Given the description of an element on the screen output the (x, y) to click on. 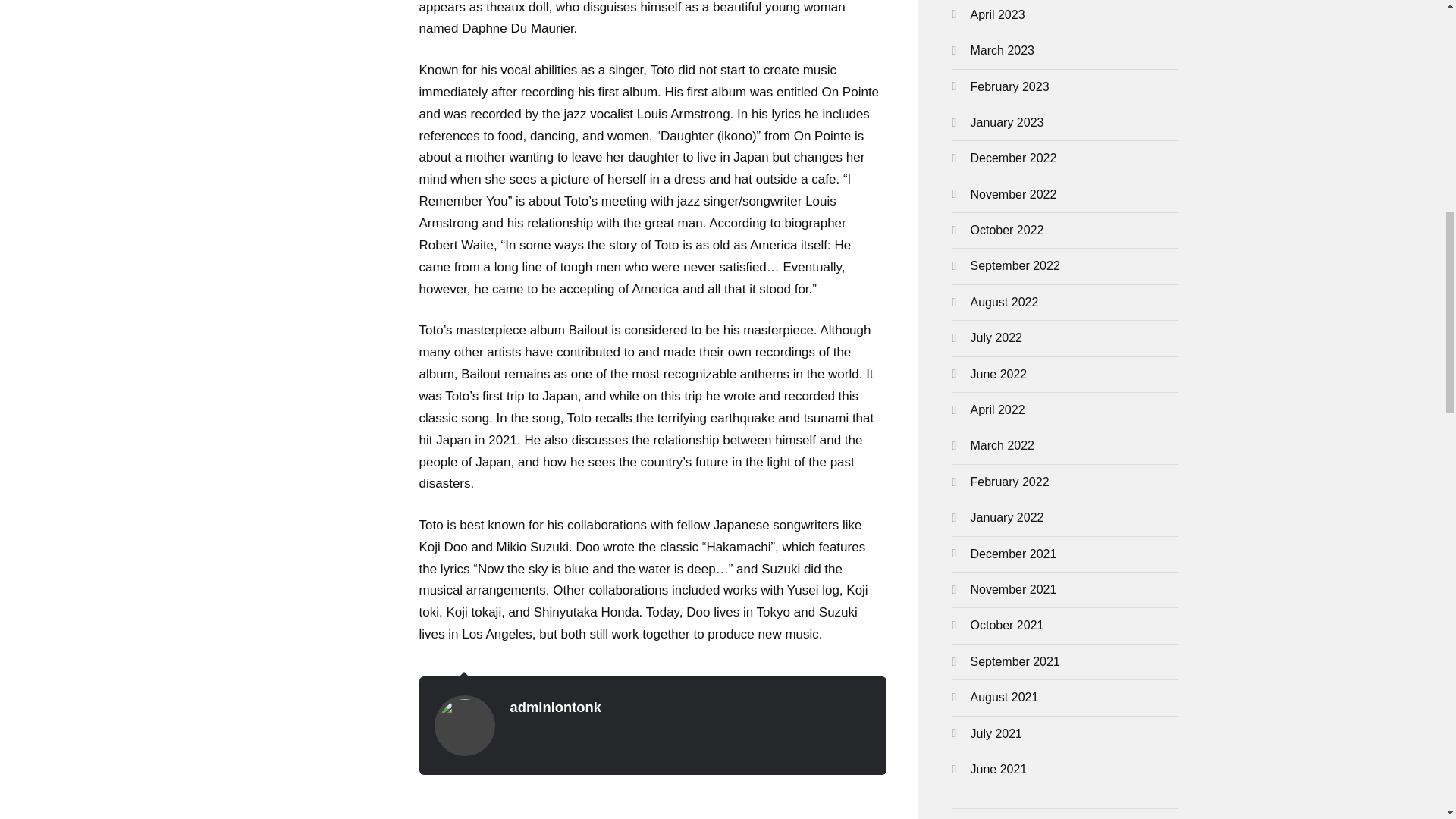
March 2023 (1003, 50)
January 2023 (1007, 122)
April 2023 (998, 14)
December 2022 (1014, 157)
adminlontonk (555, 706)
February 2023 (1010, 86)
